Given the description of an element on the screen output the (x, y) to click on. 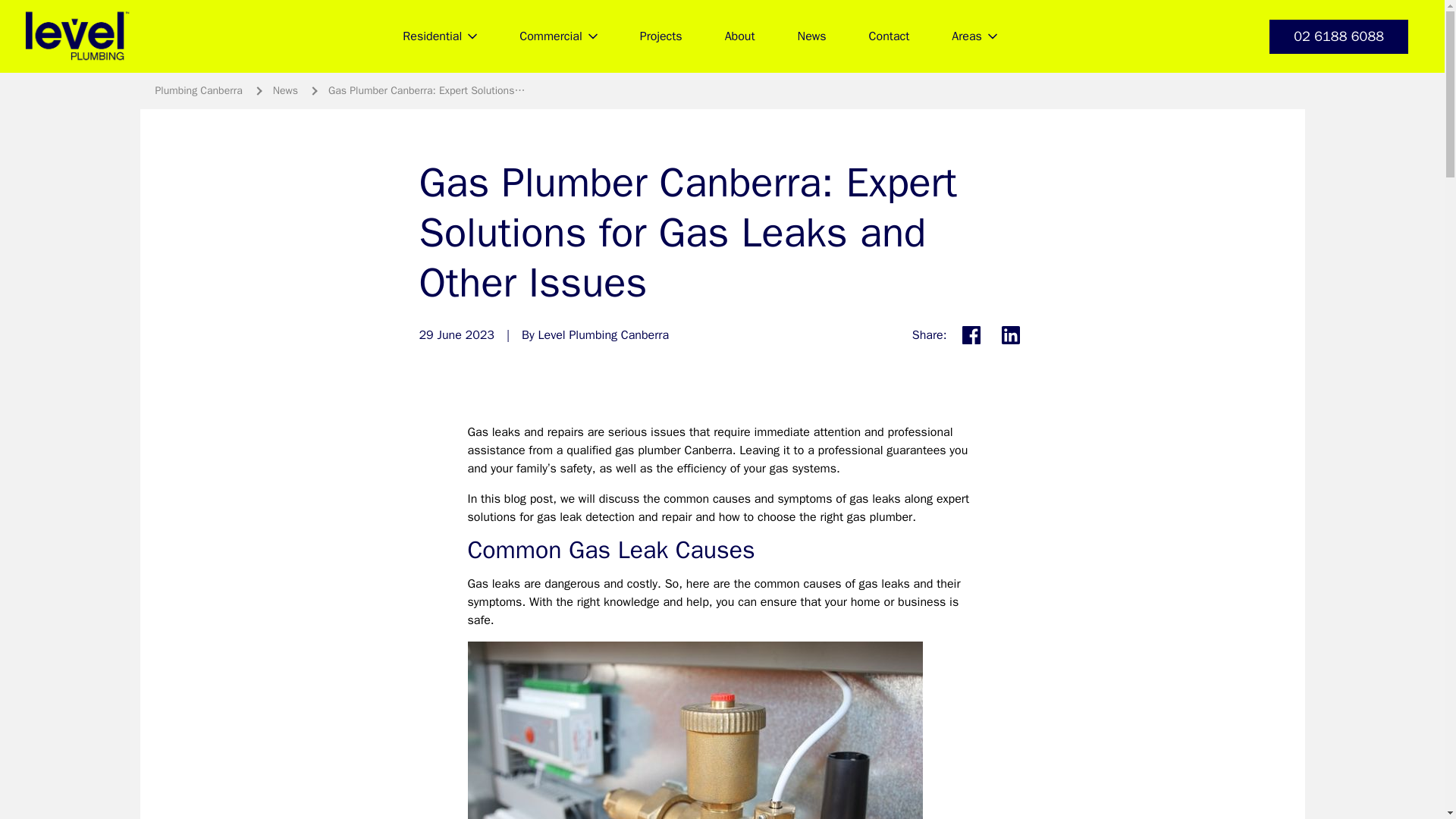
Contact (889, 35)
About (739, 35)
Residential (439, 35)
Commercial (557, 35)
Areas (973, 35)
News (811, 35)
Share on Facebook (970, 335)
Share on LinkedIn (1009, 335)
Projects (660, 35)
